Given the description of an element on the screen output the (x, y) to click on. 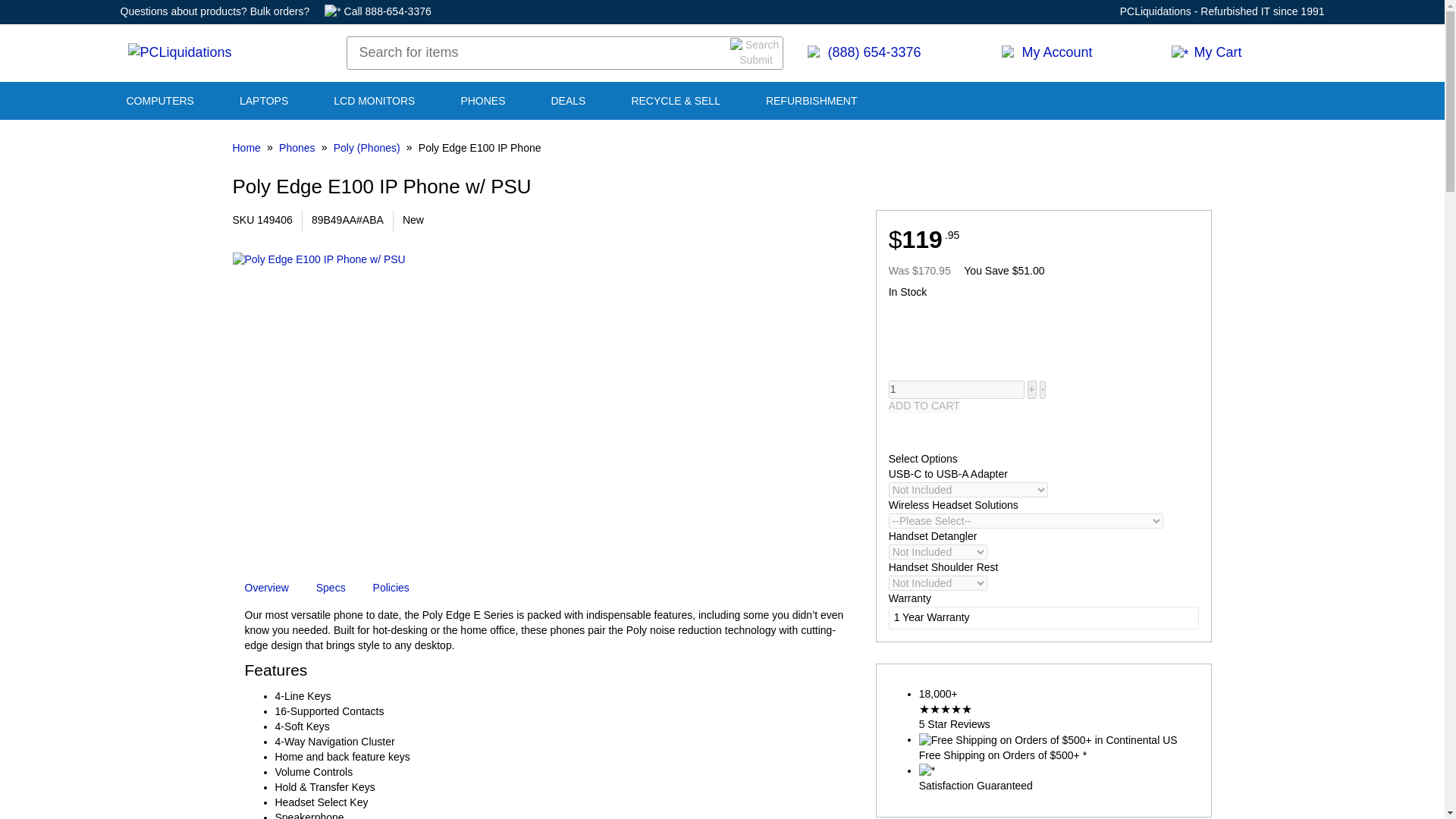
My Cart (1243, 53)
Call Toll Free (891, 53)
PCLiquidations Home (179, 53)
LCD Monitors (374, 101)
Submit (756, 52)
Refurbished IT since 1991 (1261, 10)
LCD MONITORS (374, 101)
Business Phone Systems (482, 101)
DEALS (567, 101)
1 (956, 389)
